Given the description of an element on the screen output the (x, y) to click on. 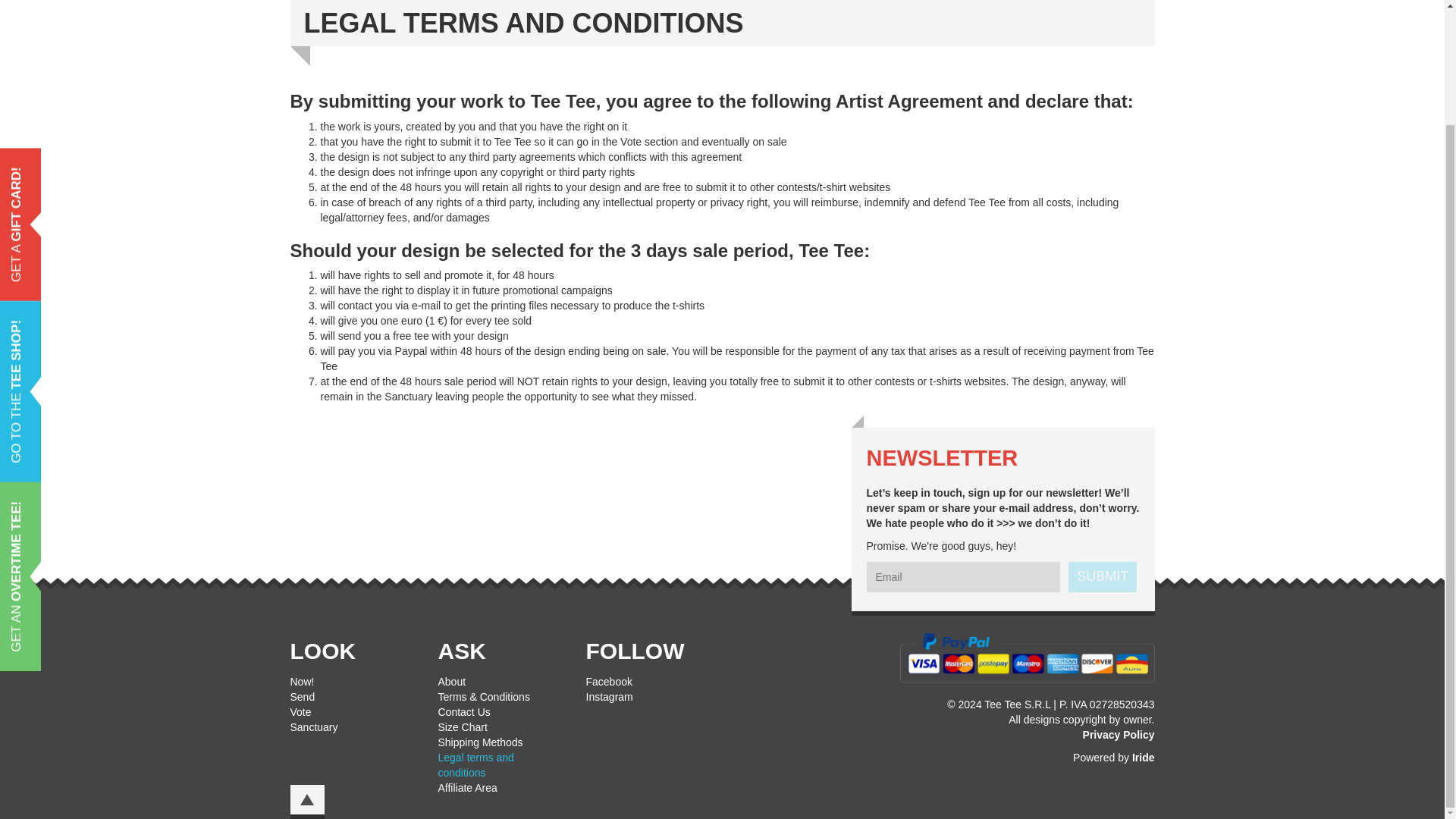
GO TO THE TEE SHOP! (82, 192)
GET AN OVERTIME TEE! (86, 373)
GET A GIFT CARD! (69, 39)
